Given the description of an element on the screen output the (x, y) to click on. 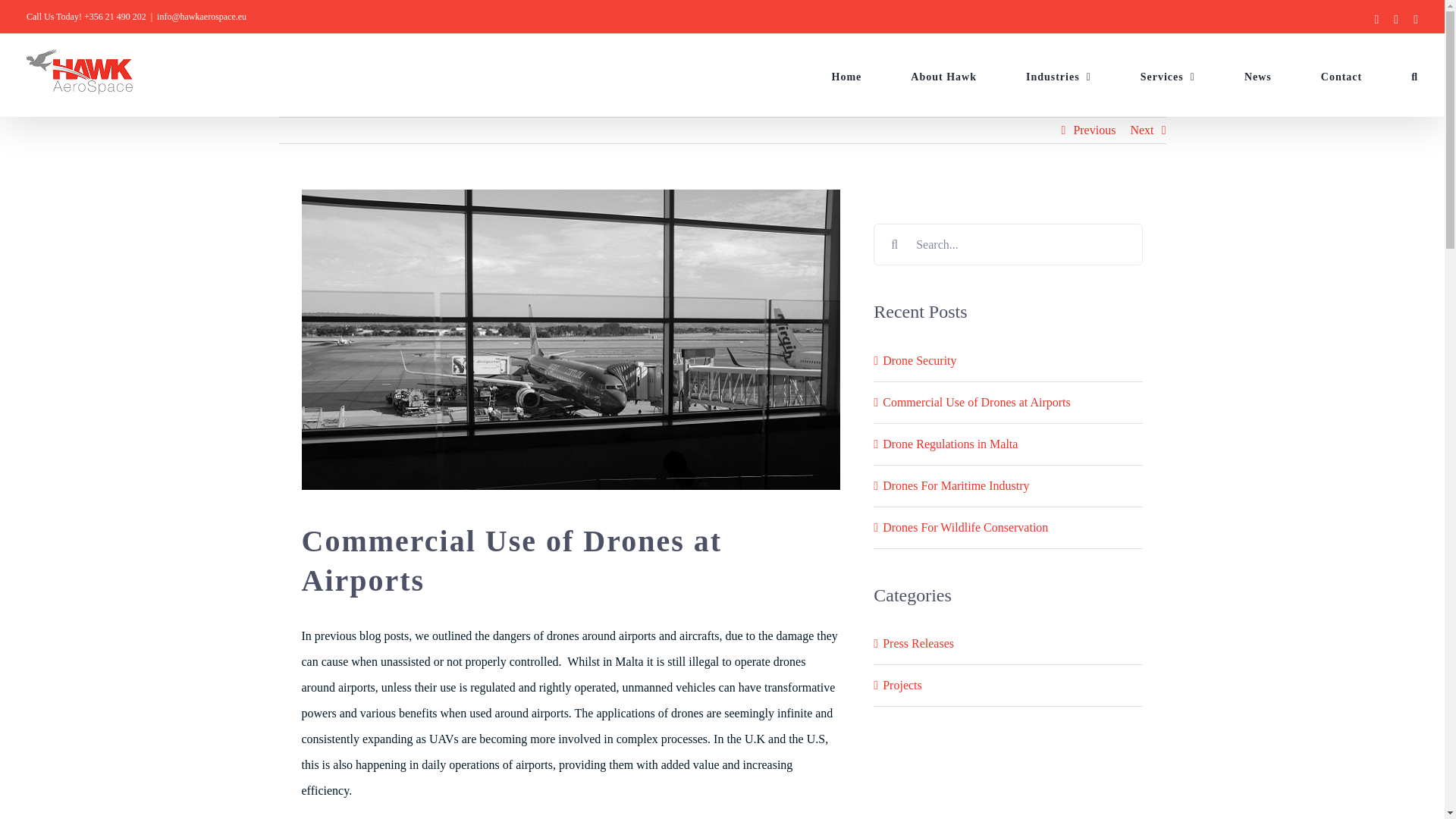
Industries (1058, 76)
About Hawk (943, 76)
